Given the description of an element on the screen output the (x, y) to click on. 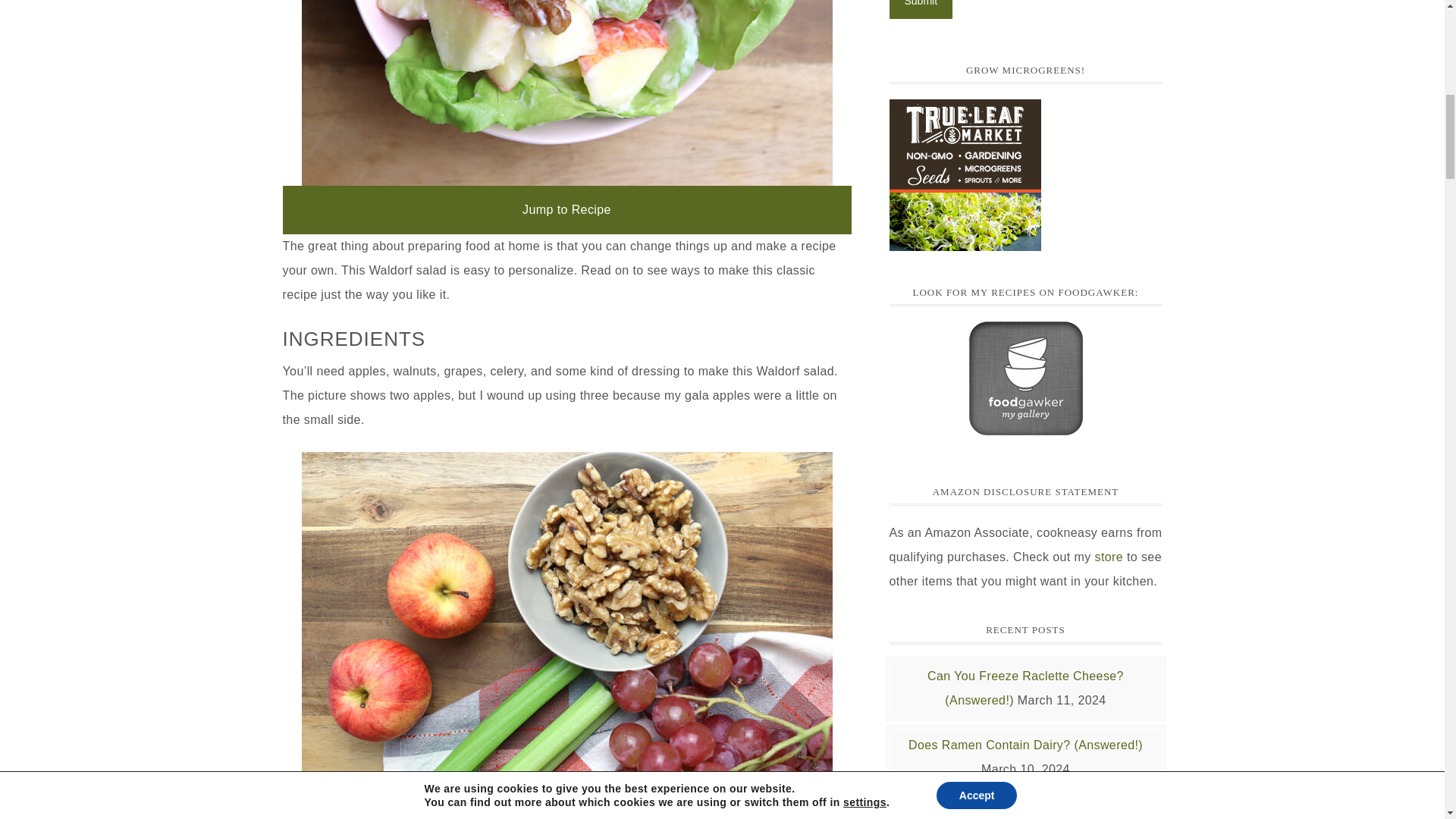
Submit (920, 9)
Check out our gardening products at True Leaf Market (964, 174)
my foodgawker gallery (1026, 427)
Jump to Recipe (566, 209)
Submit (920, 9)
